Given the description of an element on the screen output the (x, y) to click on. 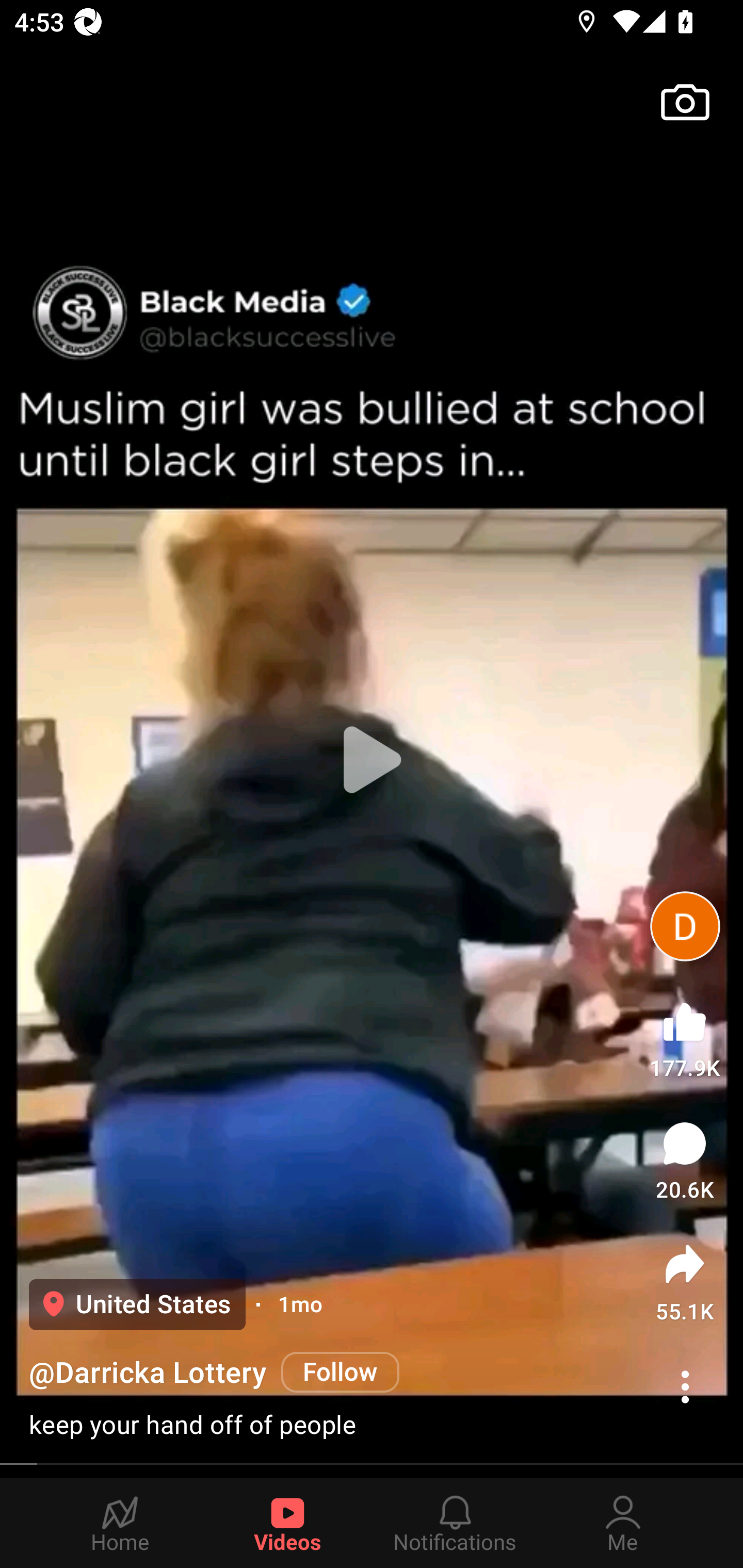
177.9K (684, 1035)
20.6K (685, 1160)
55.1K (685, 1282)
United States (136, 1304)
Follow (339, 1371)
@Darricka Lottery (147, 1373)
Home (119, 1522)
Notifications (455, 1522)
Me (622, 1522)
